Given the description of an element on the screen output the (x, y) to click on. 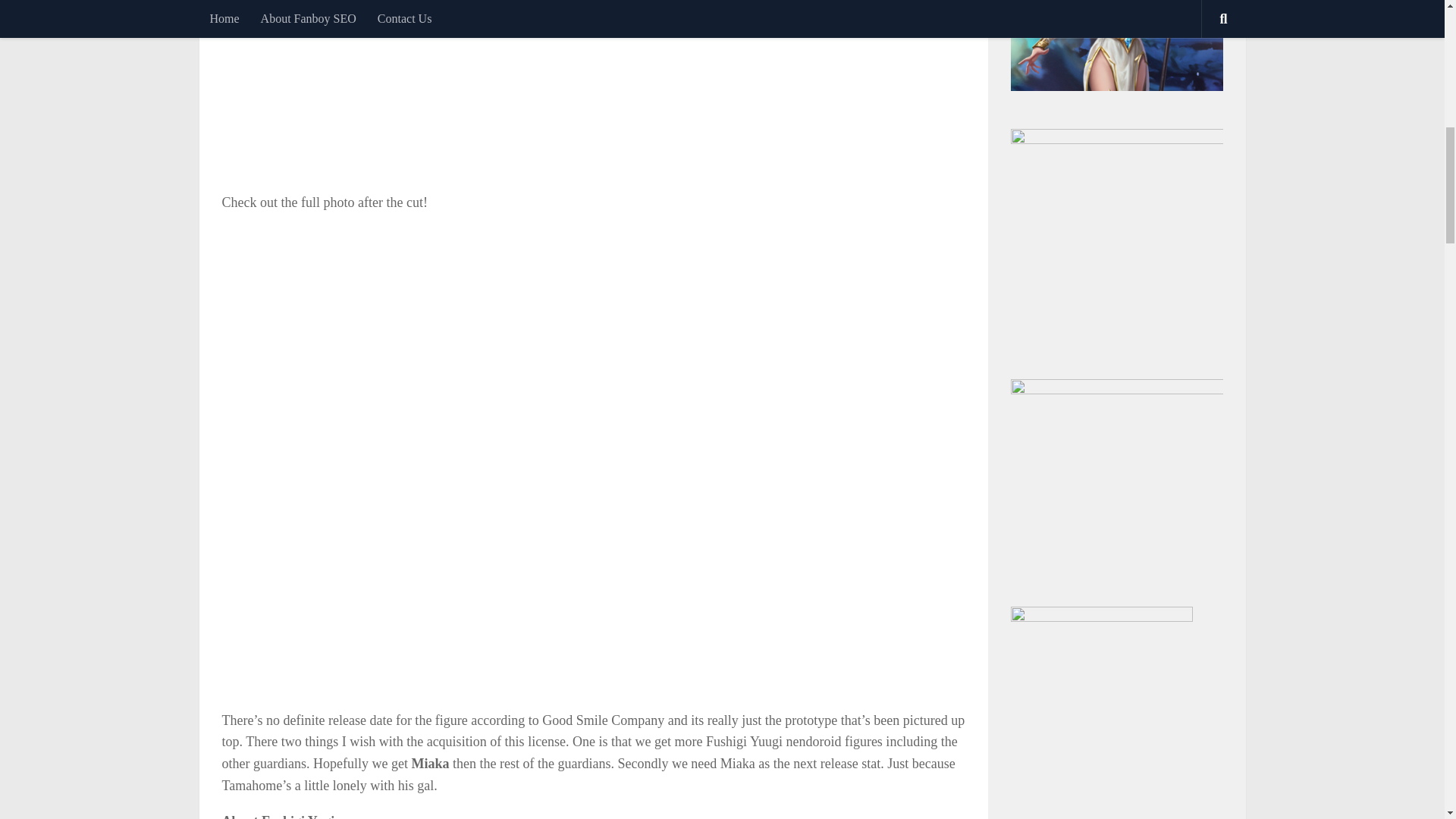
Lenovo (1101, 617)
